Given the description of an element on the screen output the (x, y) to click on. 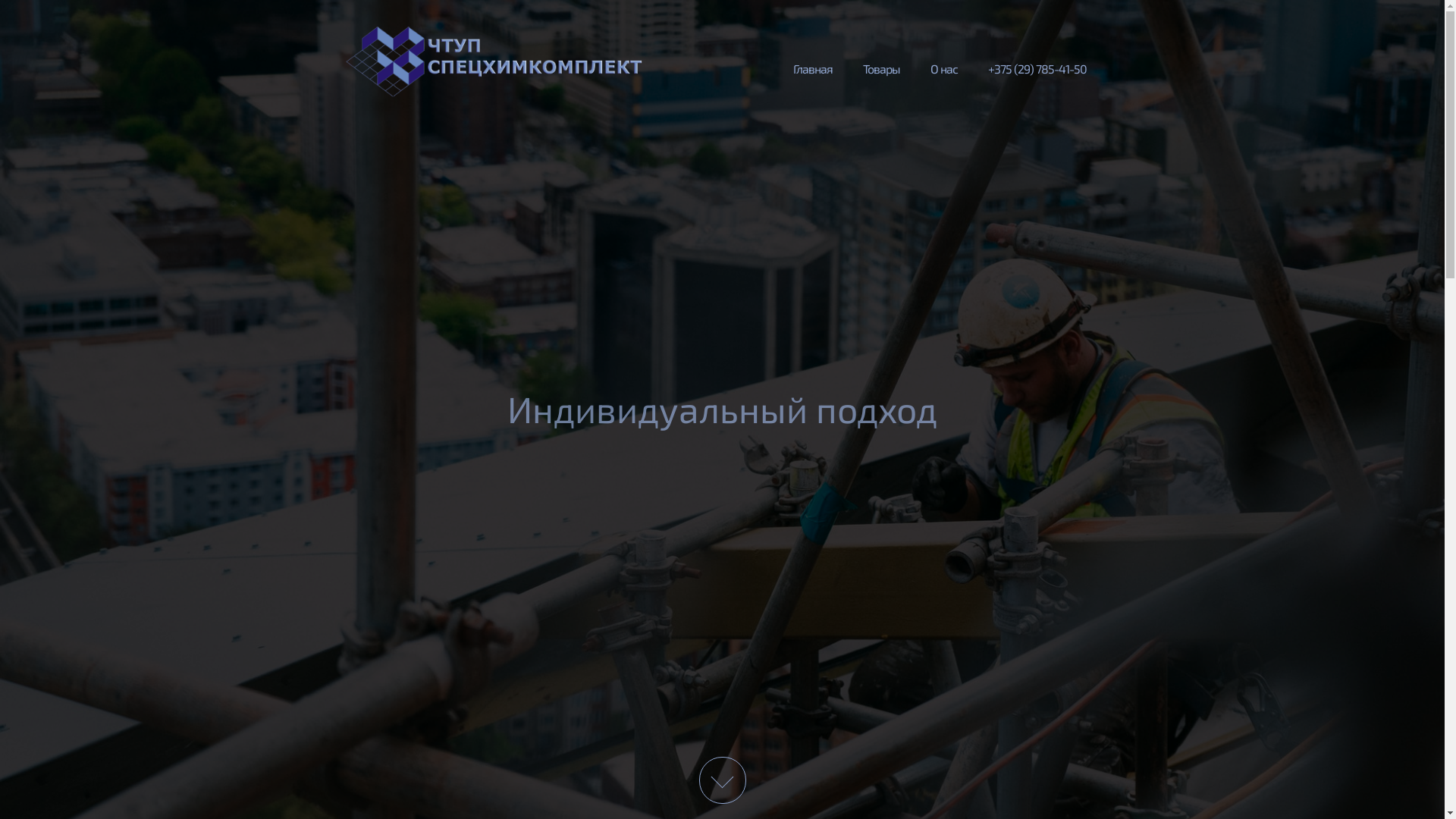
+375 (29) 785-41-50 Element type: text (1036, 67)
